Given the description of an element on the screen output the (x, y) to click on. 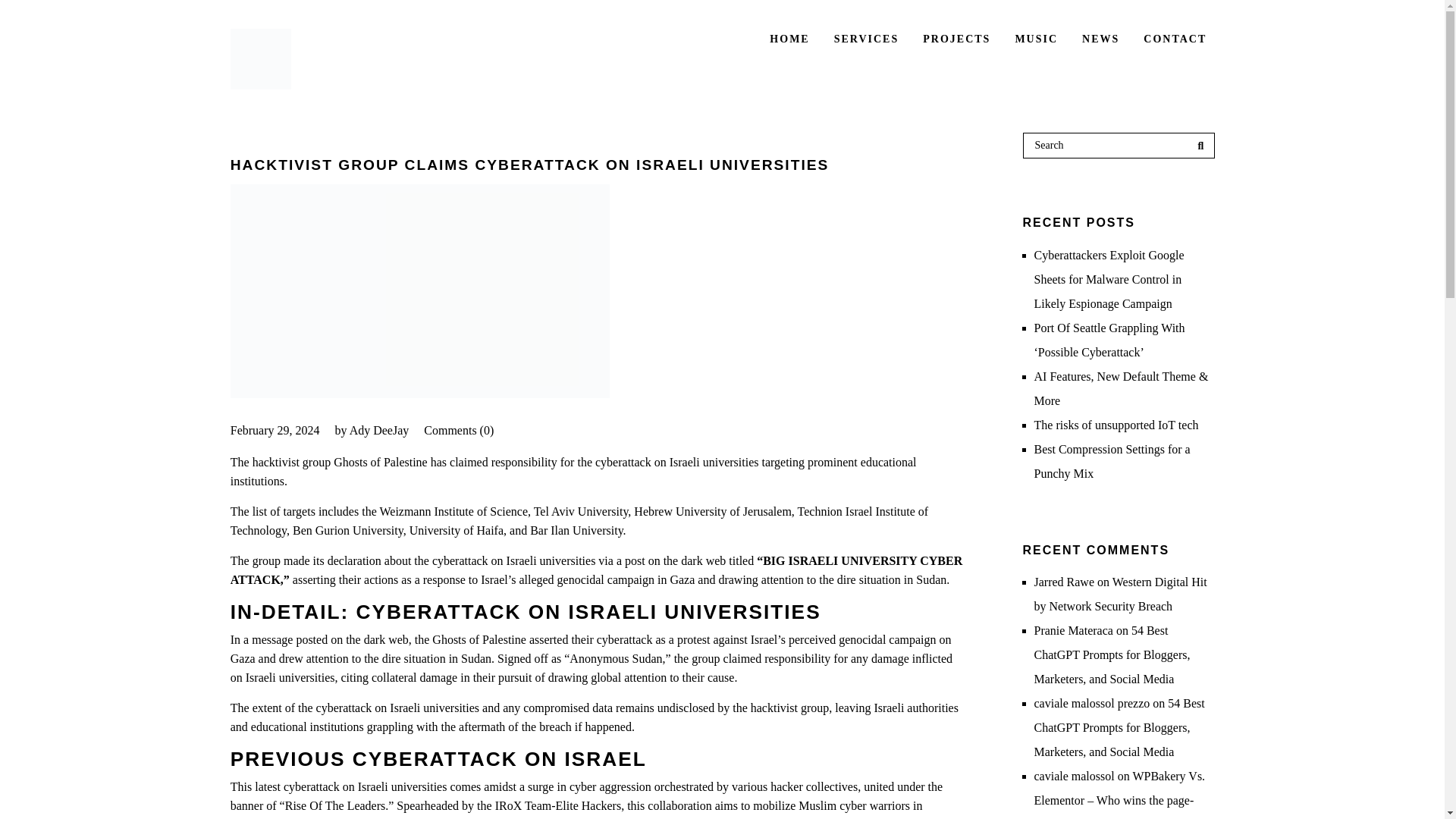
HOME (789, 39)
NEWS (1099, 39)
MUSIC (1035, 39)
Best Compression Settings for a Punchy Mix (1112, 461)
CONTACT (1173, 39)
SERVICES (866, 39)
The risks of unsupported IoT tech (1115, 424)
Western Digital Hit by Network Security Breach (1120, 593)
